Given the description of an element on the screen output the (x, y) to click on. 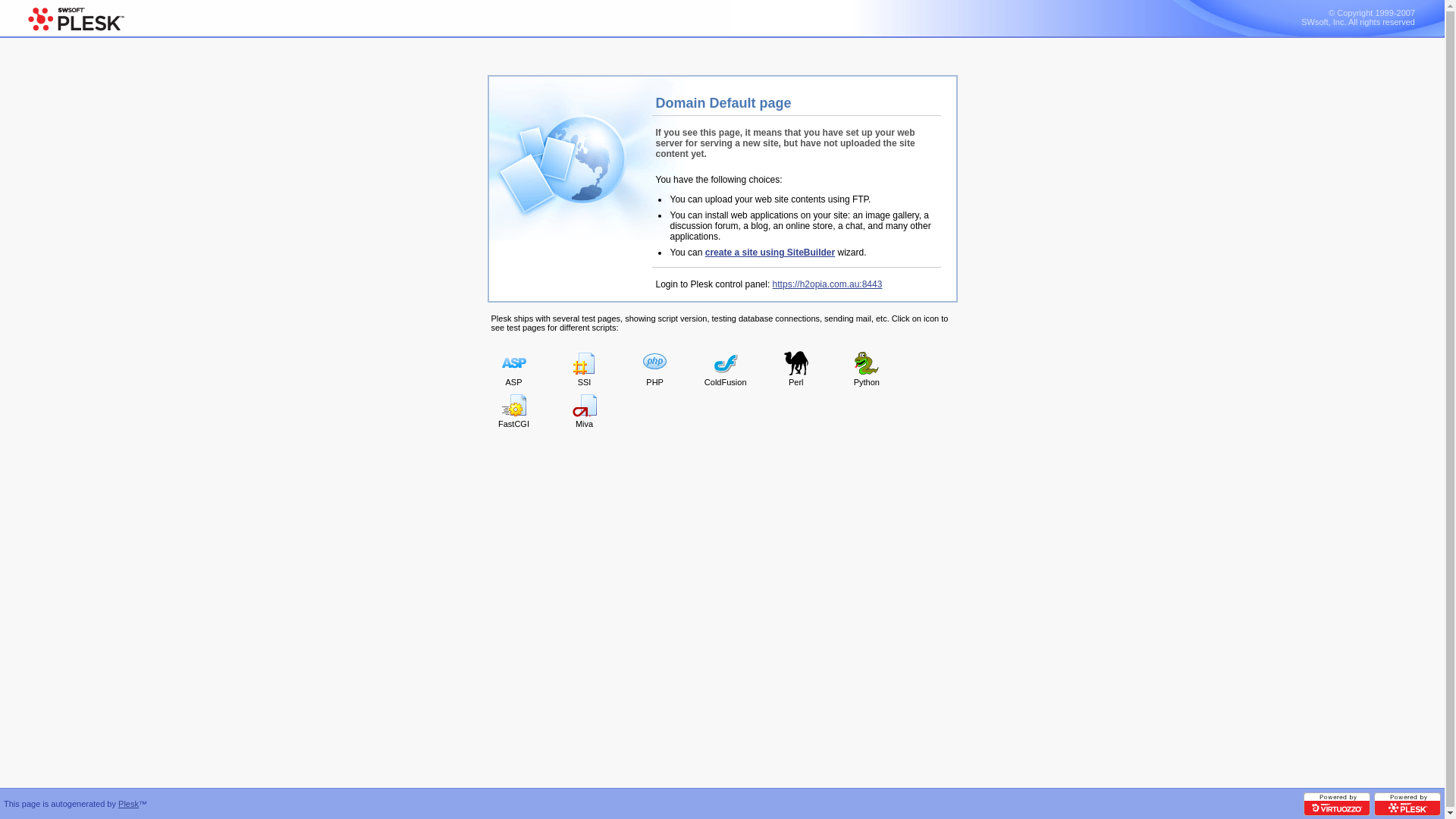
FastCGI Element type: text (512, 411)
SSI Element type: text (584, 370)
Perl Element type: text (795, 370)
ColdFusion Element type: text (725, 370)
ASP Element type: text (512, 370)
Miva Element type: text (584, 411)
PHP Element type: text (654, 370)
create a site using SiteBuilder Element type: text (769, 252)
https://h2opia.com.au:8443 Element type: text (827, 284)
Python Element type: text (866, 370)
Plesk Element type: text (128, 803)
